Given the description of an element on the screen output the (x, y) to click on. 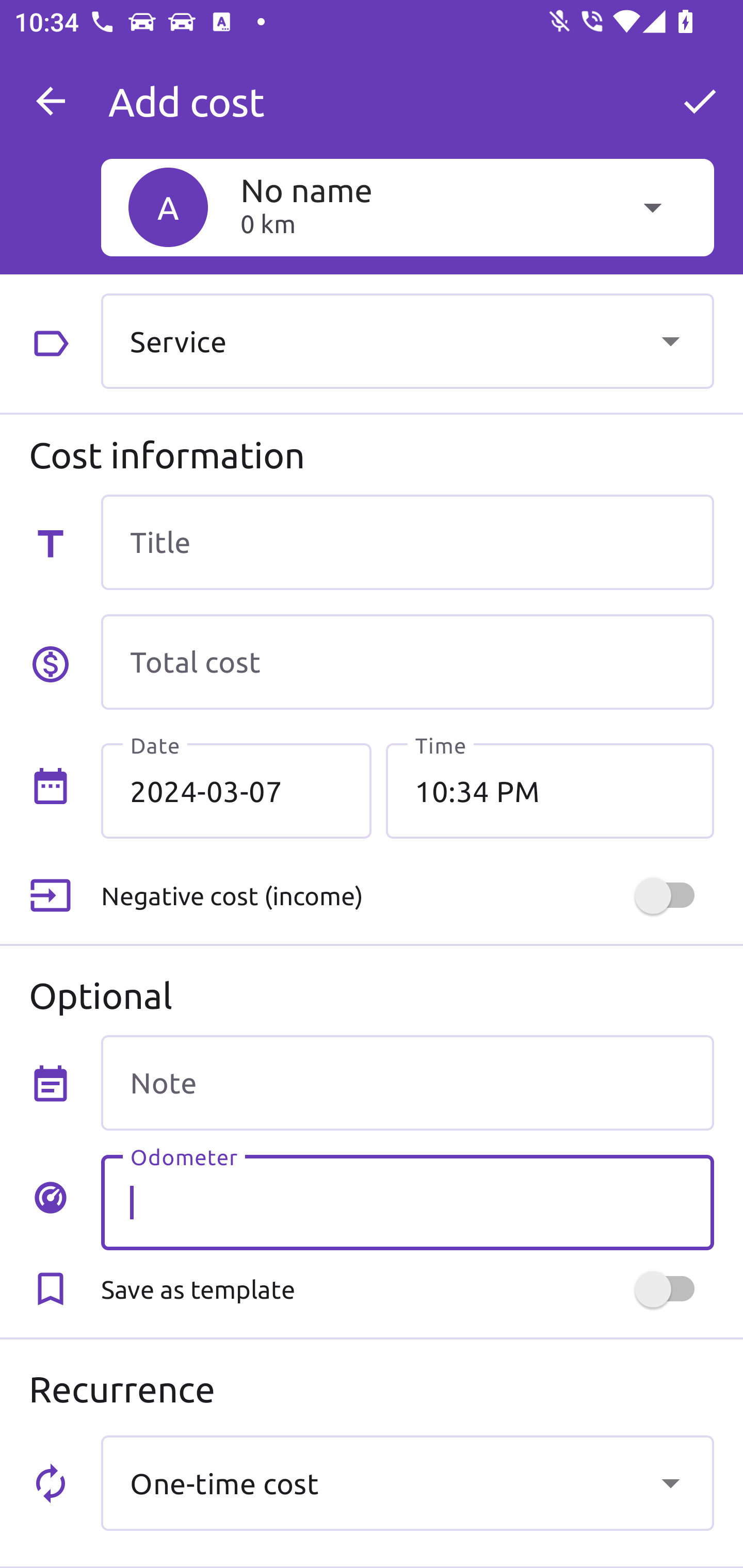
Navigate up (50, 101)
OK (699, 101)
A No name 0 km (407, 206)
Service (407, 340)
Show dropdown menu (670, 340)
Title (407, 541)
Total cost  (407, 662)
2024-03-07 (236, 790)
10:34 PM (549, 790)
Negative cost (income) (407, 895)
Note (407, 1082)
Odometer (407, 1202)
Save as template (407, 1289)
One-time cost (407, 1482)
Show dropdown menu (670, 1482)
